Given the description of an element on the screen output the (x, y) to click on. 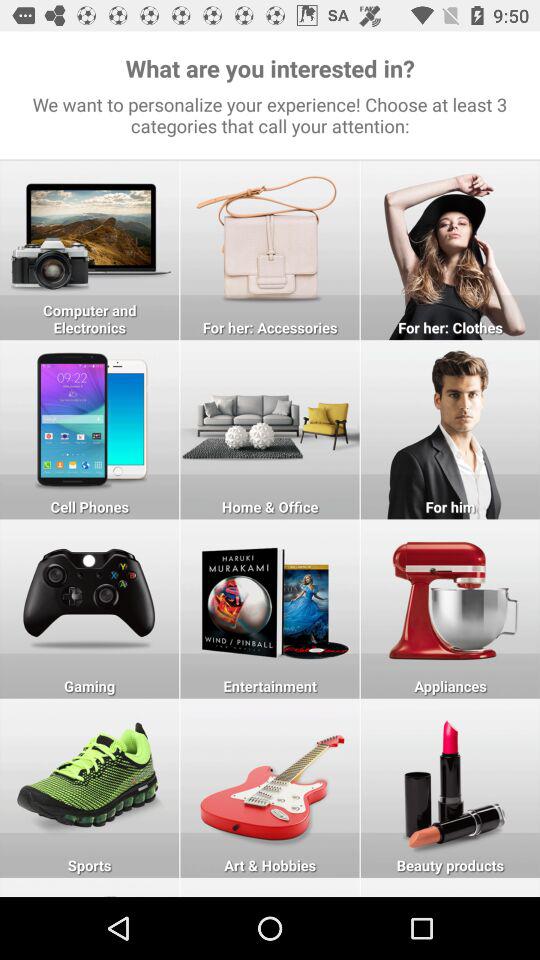
click on for her clothes (450, 250)
